Given the description of an element on the screen output the (x, y) to click on. 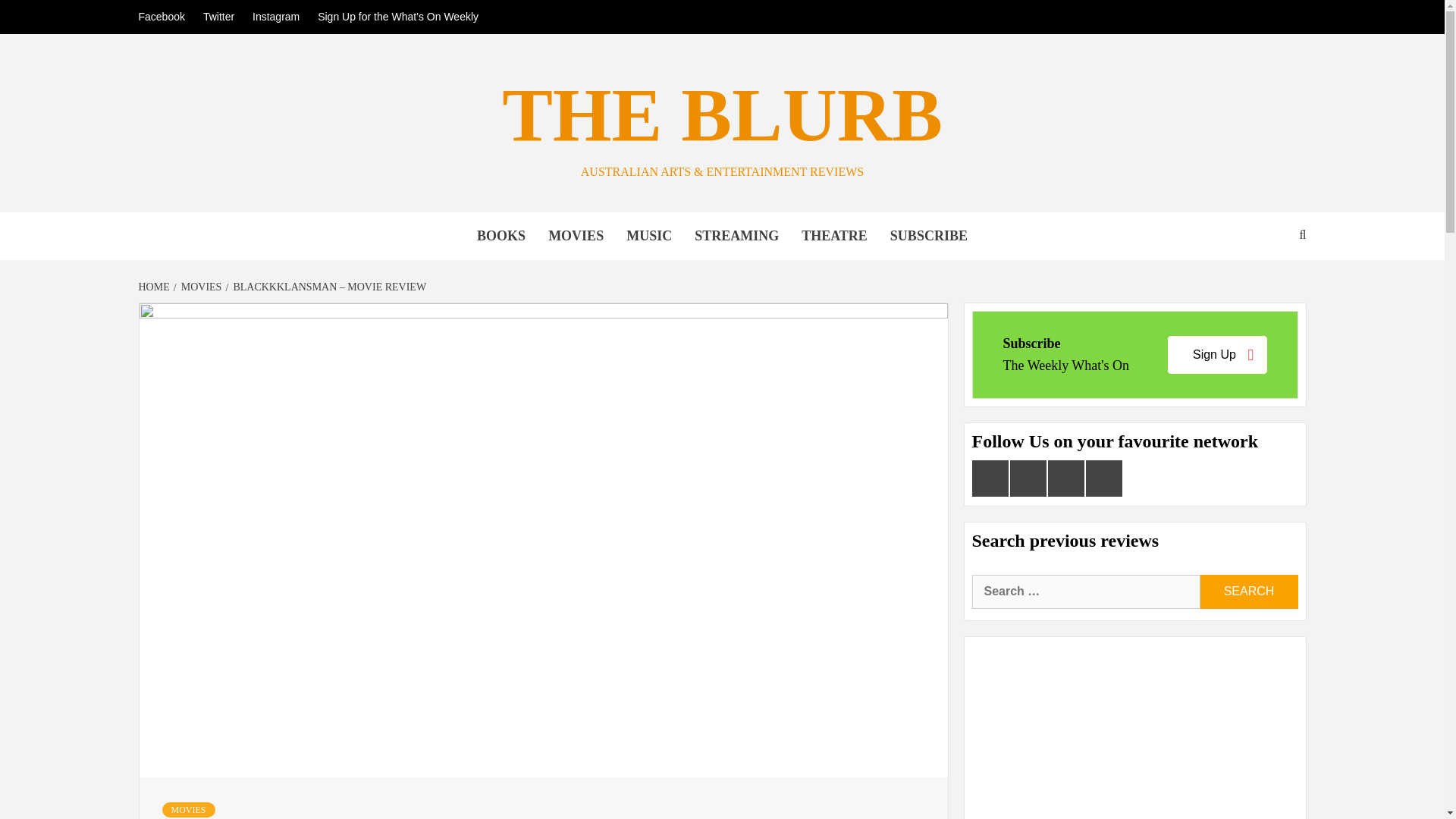
MOVIES (575, 236)
Search (1248, 591)
BOOKS (501, 236)
SUBSCRIBE (928, 236)
Twitter (218, 17)
MUSIC (648, 236)
Facebook (165, 17)
Instagram (275, 17)
STREAMING (736, 236)
THE BLURB (721, 114)
HOME (155, 286)
THEATRE (834, 236)
MOVIES (199, 286)
MOVIES (188, 809)
Search (1248, 591)
